Given the description of an element on the screen output the (x, y) to click on. 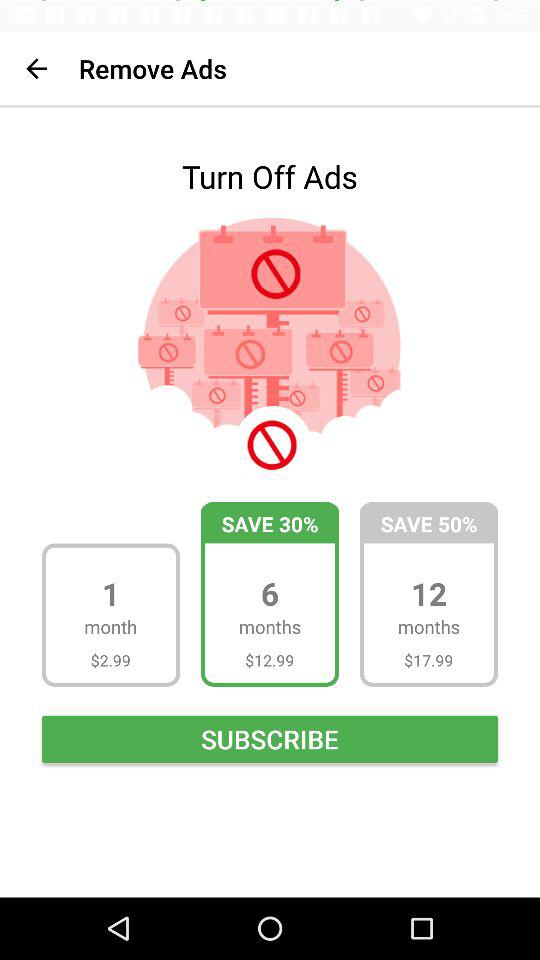
turn off item below $2.99 icon (269, 738)
